Given the description of an element on the screen output the (x, y) to click on. 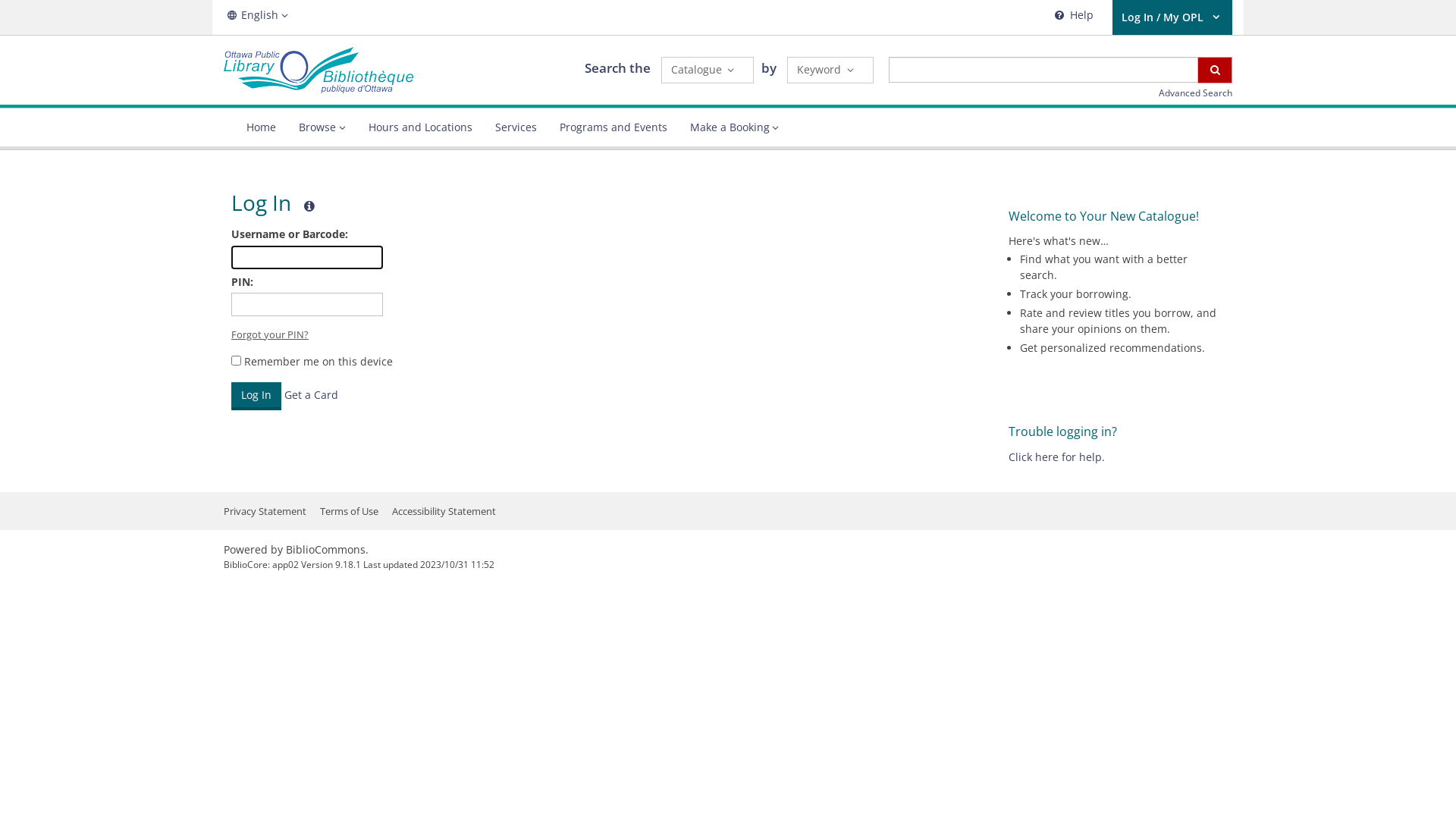
Advanced Search Element type: text (1195, 92)
English
English, collapsed Element type: text (257, 15)
Search Element type: text (1214, 69)
Forgot your PIN? Element type: text (269, 334)
Make a Booking
Make a Booking, collapsed Element type: text (733, 127)
Help
Help, opens a new window Element type: text (1072, 17)
Catalogue
  Element type: text (707, 69)
Home Element type: text (261, 127)
Log In Element type: hover (256, 396)
Keyword
  Element type: text (830, 69)
Accessibility Statement Element type: text (443, 510)
Terms of Use Element type: text (349, 510)
Log In / My OPL
User Log In / My OPL. Element type: text (1171, 17)
Privacy Statement Element type: text (264, 510)
Help for logging in, opens a new window Element type: text (309, 205)
Get a Card Element type: text (311, 394)
Click here for help. Element type: text (1056, 456)
Programs and Events Element type: text (612, 127)
Log In Element type: text (256, 396)
Browse
Browse, collapsed Element type: text (322, 127)
Hours and Locations Element type: text (419, 127)
Services Element type: text (515, 127)
